Given the description of an element on the screen output the (x, y) to click on. 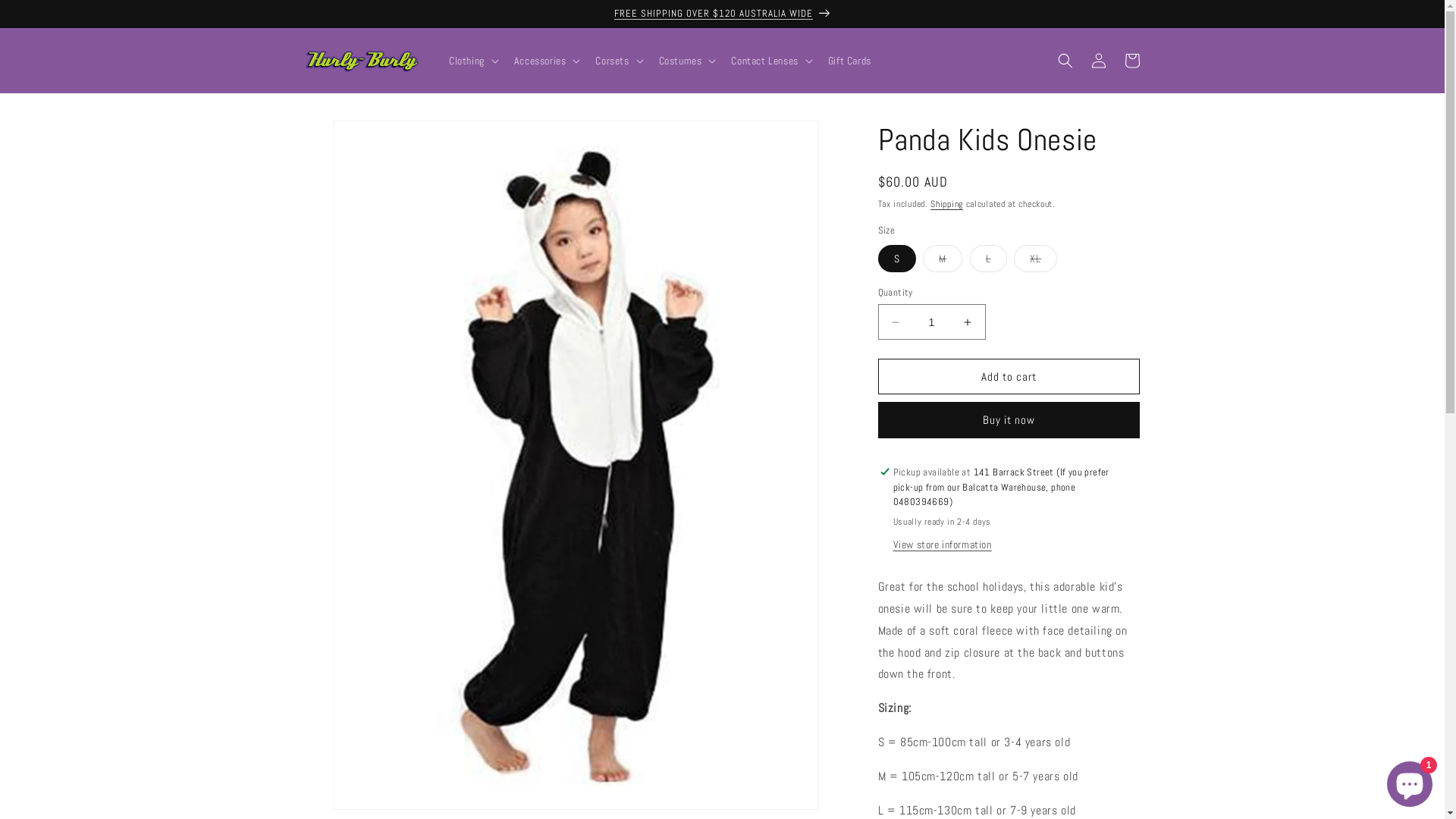
Decrease quantity for Panda Kids Onesie Element type: text (895, 321)
Shopify online store chat Element type: hover (1409, 780)
Skip to product information Element type: text (350, 137)
Cart Element type: text (1131, 60)
Gift Cards Element type: text (849, 60)
Log in Element type: text (1097, 60)
Buy it now Element type: text (1008, 419)
Increase quantity for Panda Kids Onesie Element type: text (967, 321)
FREE SHIPPING OVER $120 AUSTRALIA WIDE Element type: text (722, 14)
View store information Element type: text (942, 544)
Shipping Element type: text (946, 203)
Add to cart Element type: text (1008, 376)
